Given the description of an element on the screen output the (x, y) to click on. 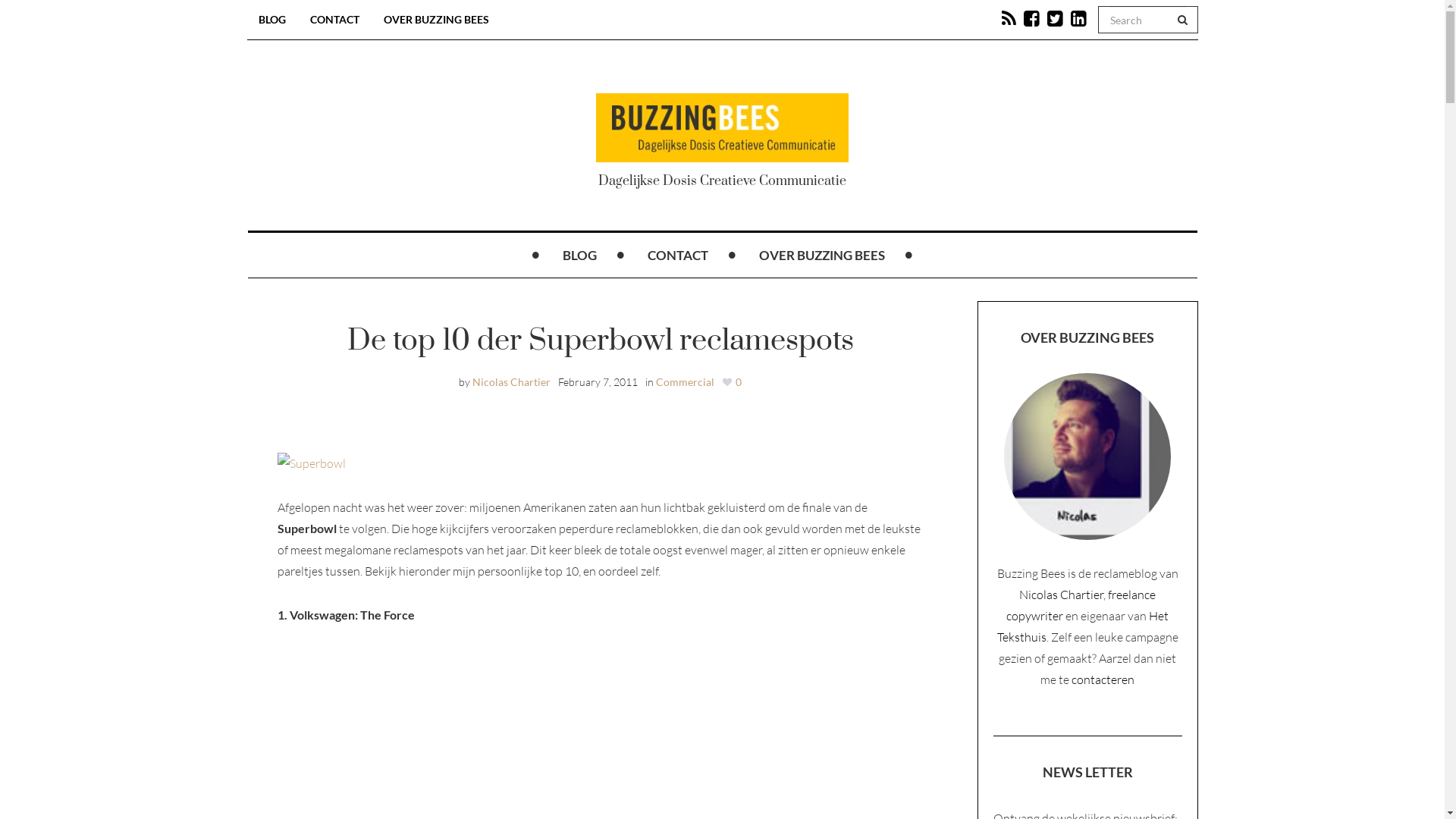
BLOG Element type: text (579, 255)
Het Teksthuis Element type: text (1082, 626)
Nicolas Chartier Element type: text (510, 381)
Buzzing Bees Element type: hover (722, 127)
CONTACT Element type: text (677, 255)
Superbowl by maiskelin, on Flickr Element type: hover (311, 461)
Commercial Element type: text (684, 381)
freelance copywriter Element type: text (1080, 604)
0 Element type: text (731, 381)
OVER BUZZING BEES Element type: text (435, 19)
Nicolas Chartier Element type: text (1061, 594)
CONTACT Element type: text (334, 19)
BLOG Element type: text (272, 19)
OVER BUZZING BEES Element type: text (821, 255)
contacteren Element type: text (1102, 679)
